Given the description of an element on the screen output the (x, y) to click on. 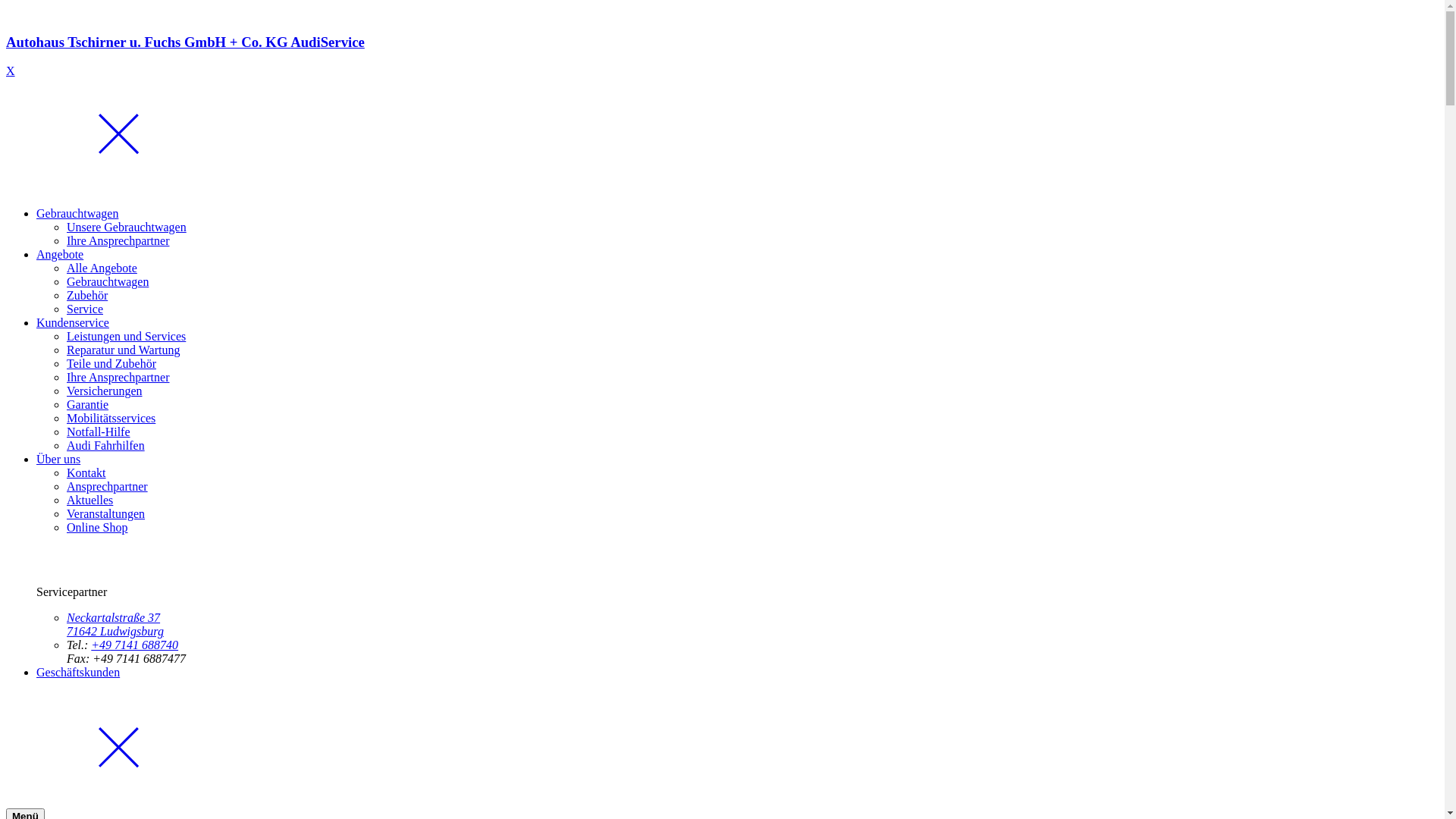
Kontakt Element type: text (86, 472)
Unsere Gebrauchtwagen Element type: text (126, 226)
Audi Fahrhilfen Element type: text (105, 445)
Ihre Ansprechpartner Element type: text (117, 240)
Gebrauchtwagen Element type: text (107, 281)
Reparatur und Wartung Element type: text (122, 349)
Online Shop Element type: text (96, 526)
Veranstaltungen Element type: text (105, 513)
Leistungen und Services Element type: text (125, 335)
Autohaus Tschirner u. Fuchs GmbH + Co. KG AudiService Element type: text (722, 56)
Kundenservice Element type: text (72, 322)
X Element type: text (10, 70)
+49 7141 688740 Element type: text (134, 644)
Notfall-Hilfe Element type: text (98, 431)
Gebrauchtwagen Element type: text (77, 213)
Angebote Element type: text (59, 253)
Garantie Element type: text (87, 404)
Aktuelles Element type: text (89, 499)
Alle Angebote Element type: text (101, 267)
Ansprechpartner Element type: text (106, 486)
Service Element type: text (84, 308)
Versicherungen Element type: text (104, 390)
Ihre Ansprechpartner Element type: text (117, 376)
